Given the description of an element on the screen output the (x, y) to click on. 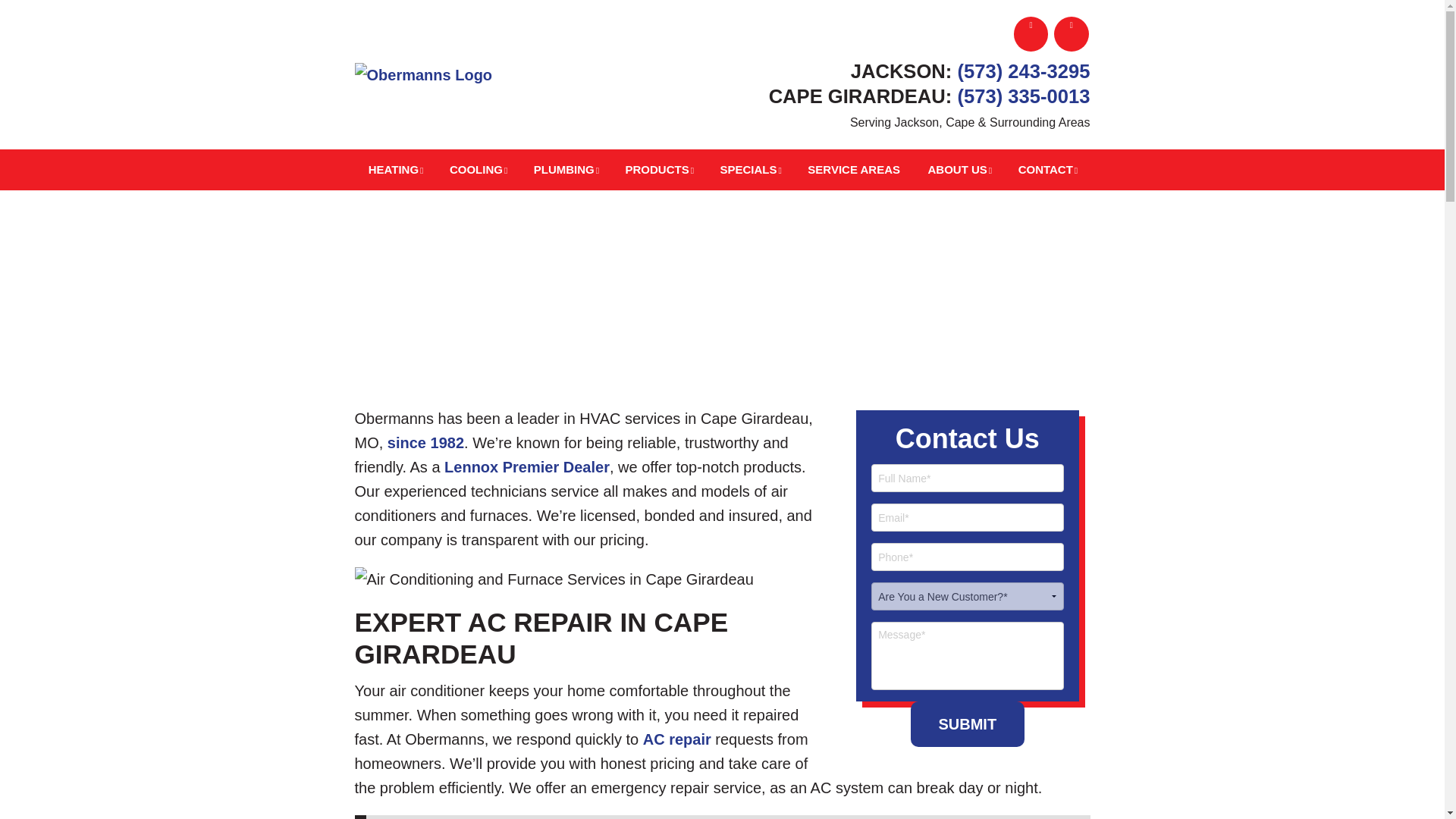
Lennox Premier Dealer (527, 466)
PLUMBING (565, 169)
PRODUCTS (659, 169)
Submit (968, 723)
COOLING (477, 169)
Submit (968, 723)
since 1982 (425, 442)
ABOUT US (958, 169)
AC repair (677, 739)
CONTACT (1047, 169)
